Given the description of an element on the screen output the (x, y) to click on. 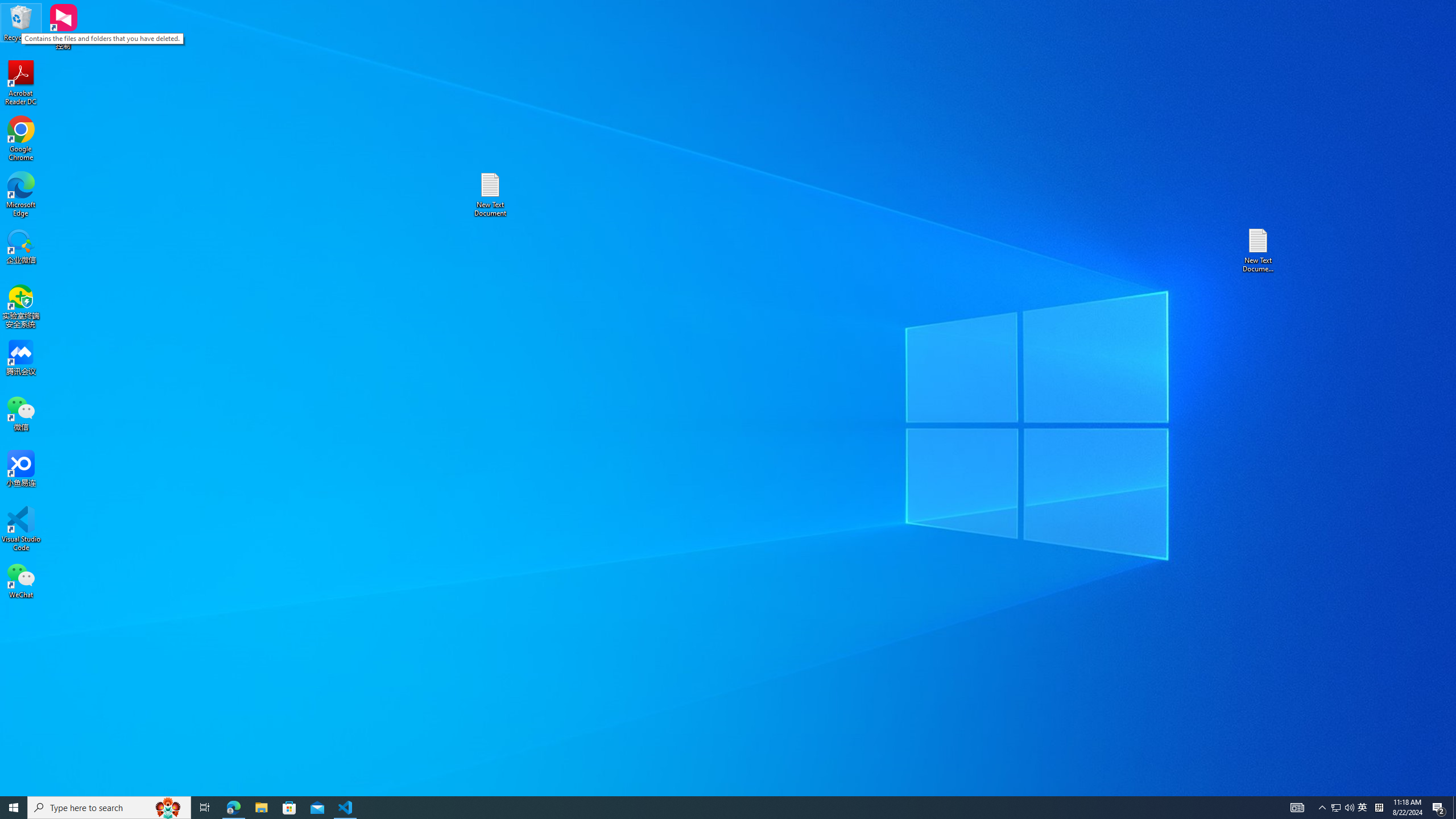
Microsoft Edge (21, 194)
New Text Document (2) (1258, 250)
WeChat (21, 580)
Visual Studio Code (21, 528)
Running applications (707, 807)
